Given the description of an element on the screen output the (x, y) to click on. 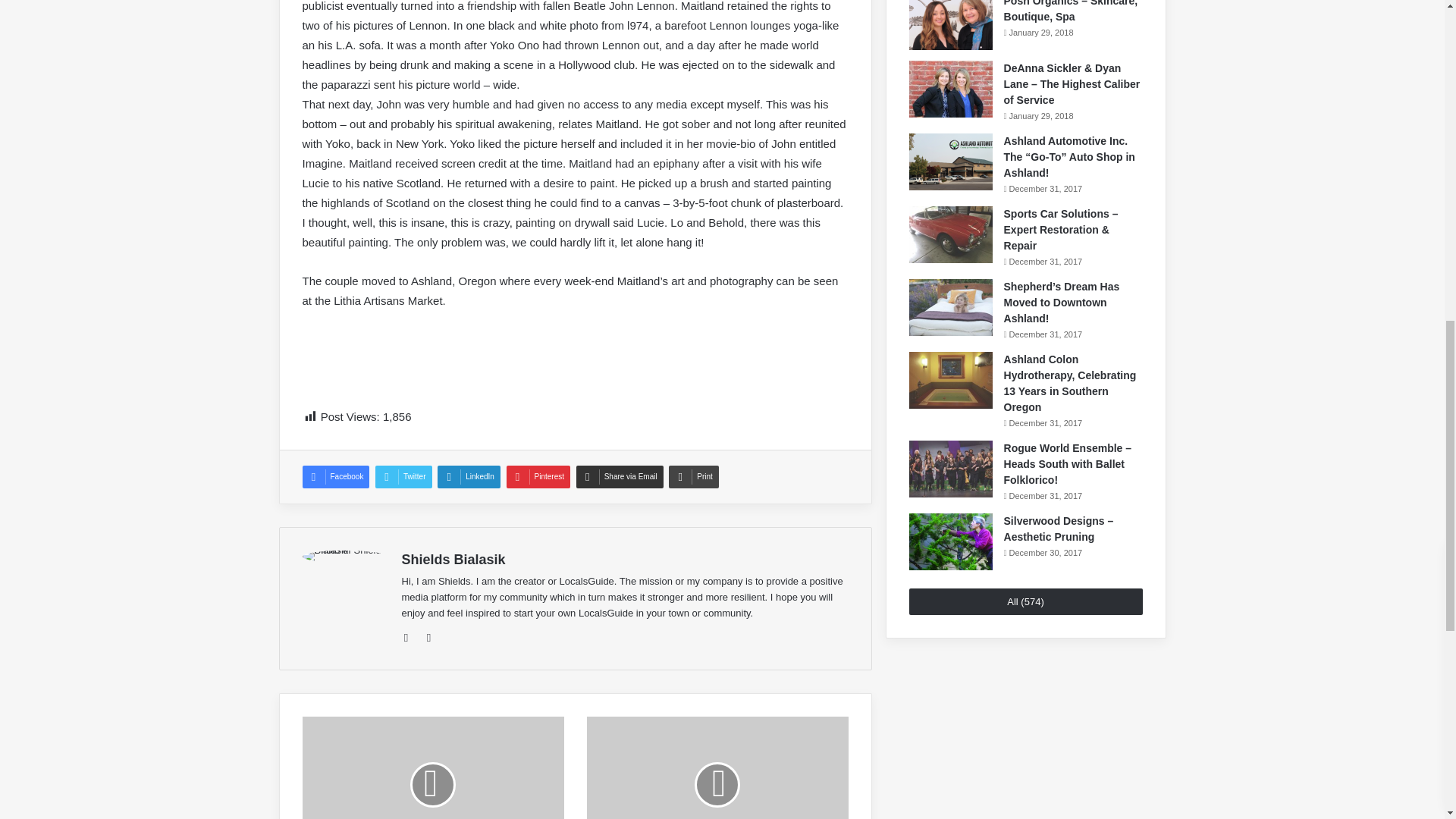
Pinterest (538, 477)
Pinterest (538, 477)
LinkedIn (469, 477)
Print (693, 477)
Twitter (402, 477)
Share via Email (619, 477)
Print (693, 477)
Shields Bialasik (453, 559)
Twitter (402, 477)
Facebook (335, 477)
LinkedIn (469, 477)
Facebook (335, 477)
Share via Email (619, 477)
Website (410, 637)
Facebook (429, 637)
